Given the description of an element on the screen output the (x, y) to click on. 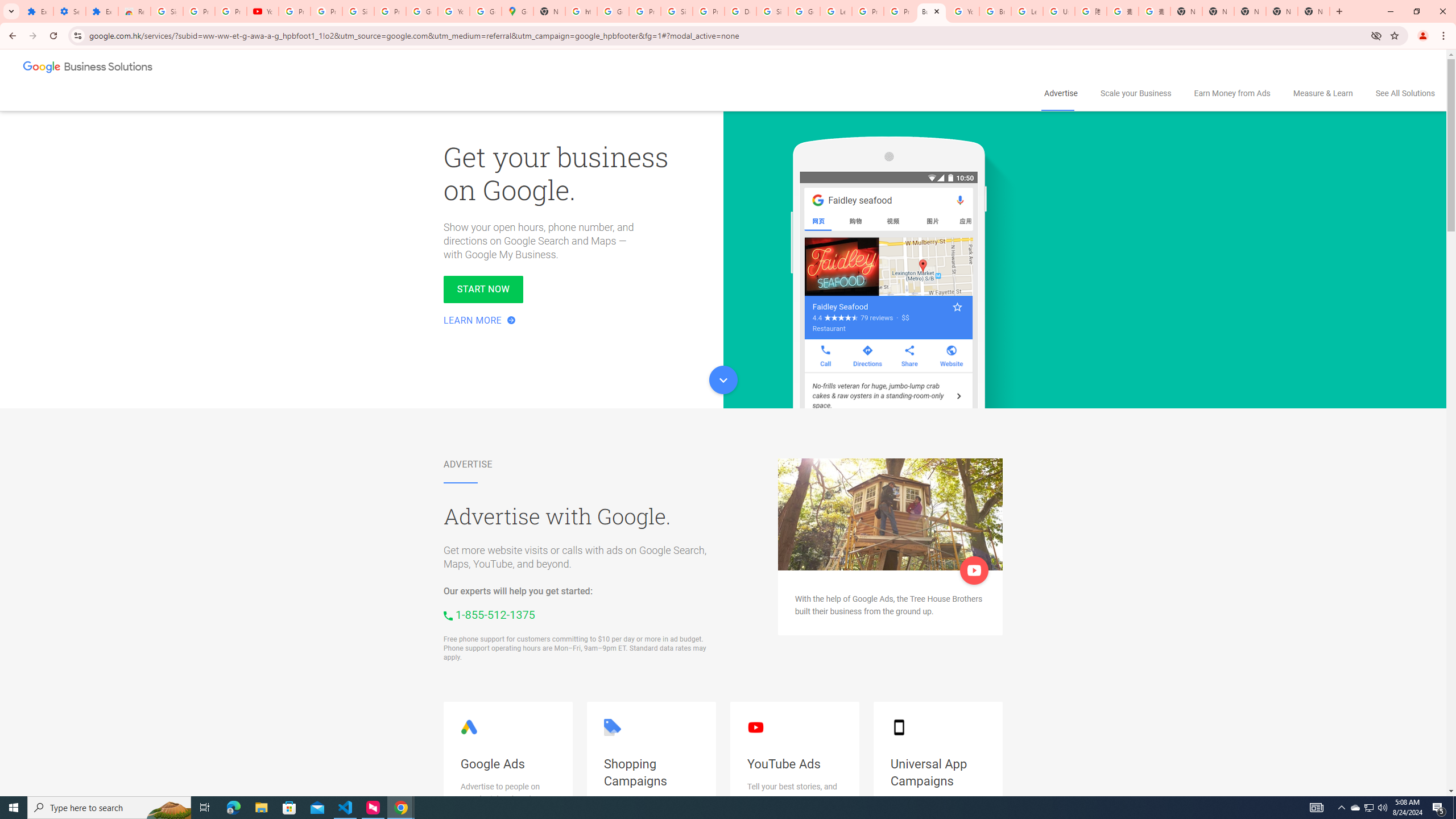
LEARN MORE  (480, 320)
Sign in - Google Accounts (166, 11)
Measure & Learn (1322, 93)
START NOW (483, 289)
New Tab (1185, 11)
Google Account (421, 11)
smartphone black (898, 727)
